Given the description of an element on the screen output the (x, y) to click on. 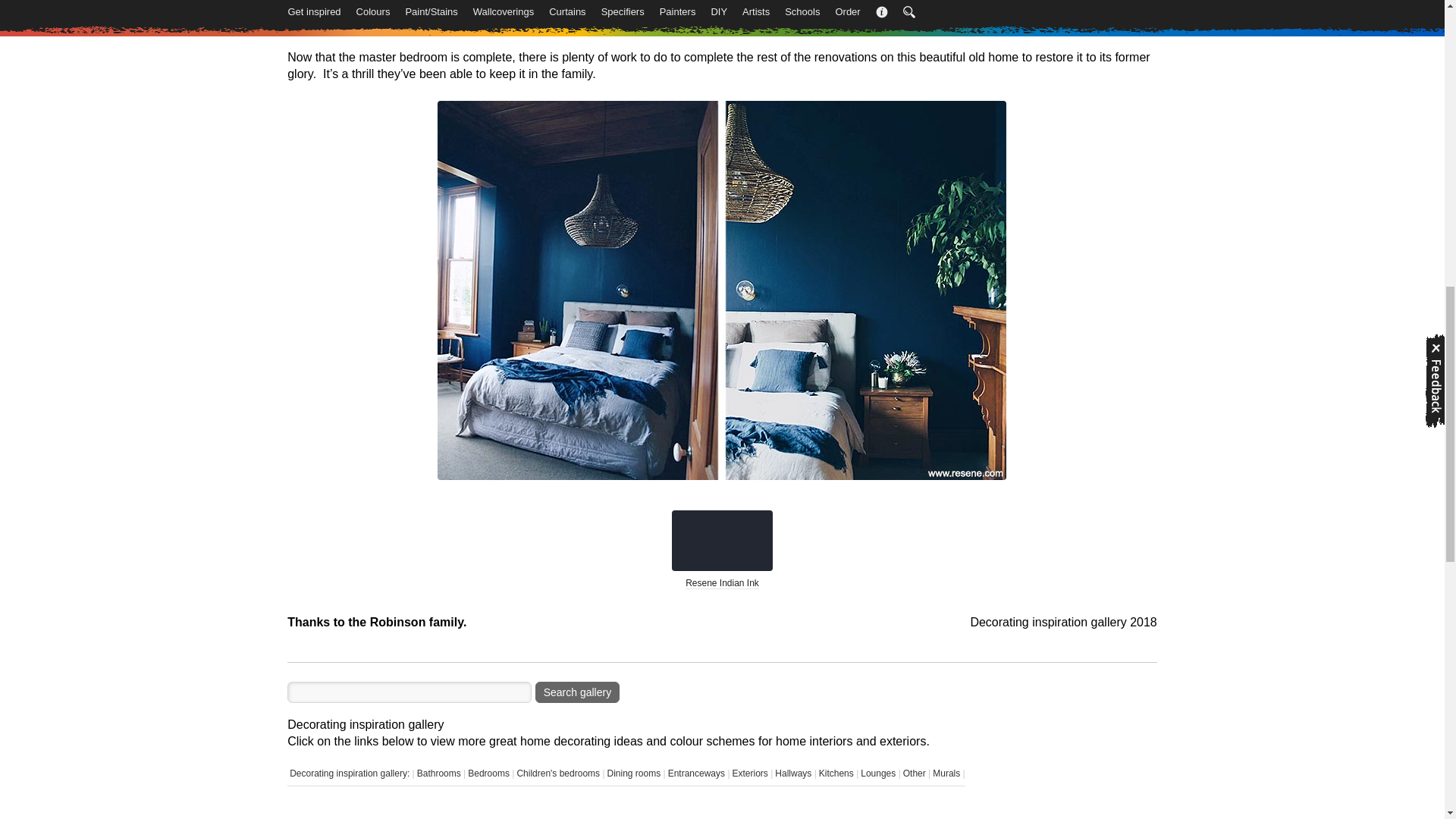
Search gallery (577, 691)
